Given the description of an element on the screen output the (x, y) to click on. 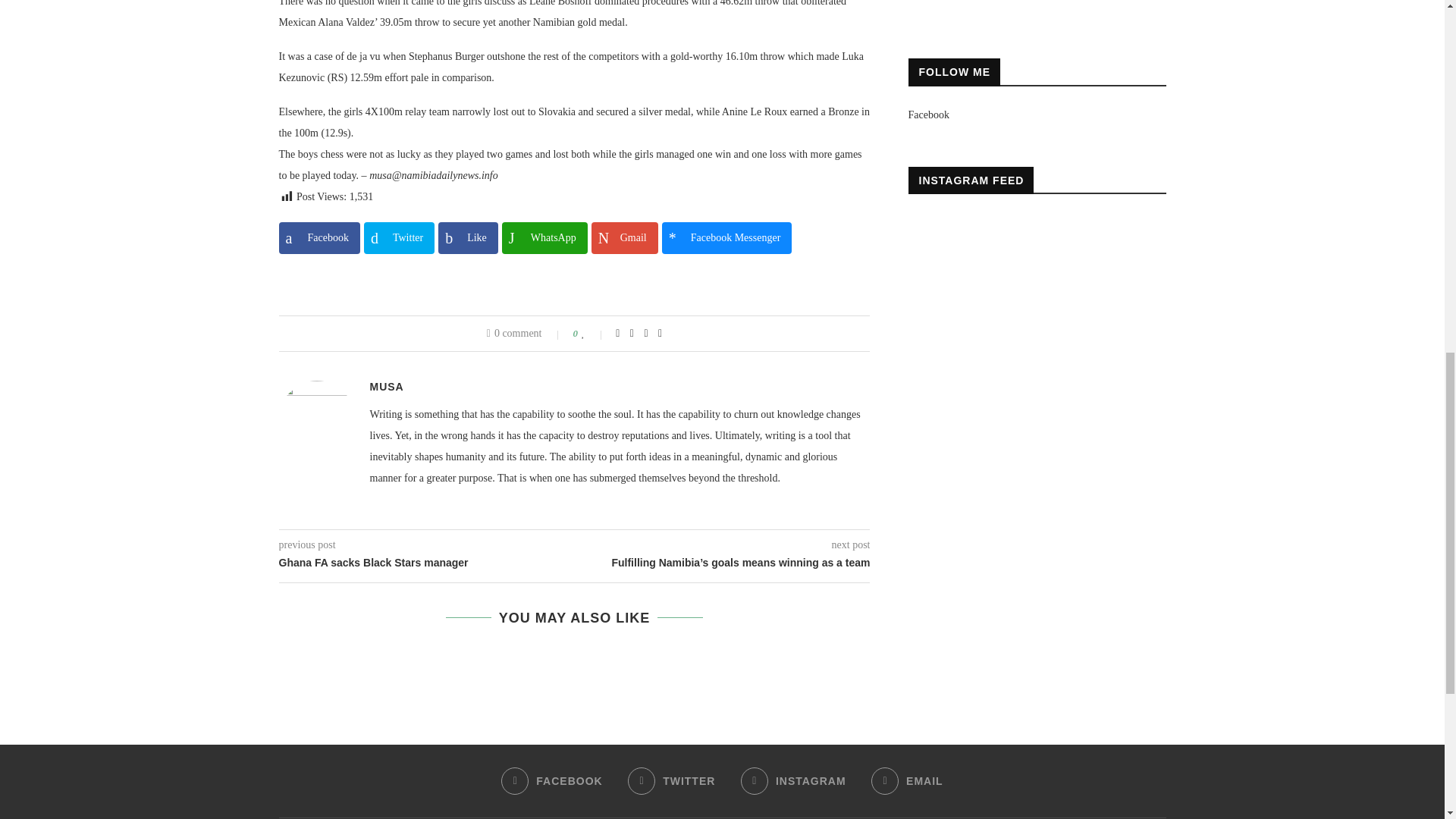
Share on Like (467, 237)
Share on Gmail (624, 237)
Share on Twitter (398, 237)
Share on WhatsApp (545, 237)
Share on Facebook (319, 237)
